Given the description of an element on the screen output the (x, y) to click on. 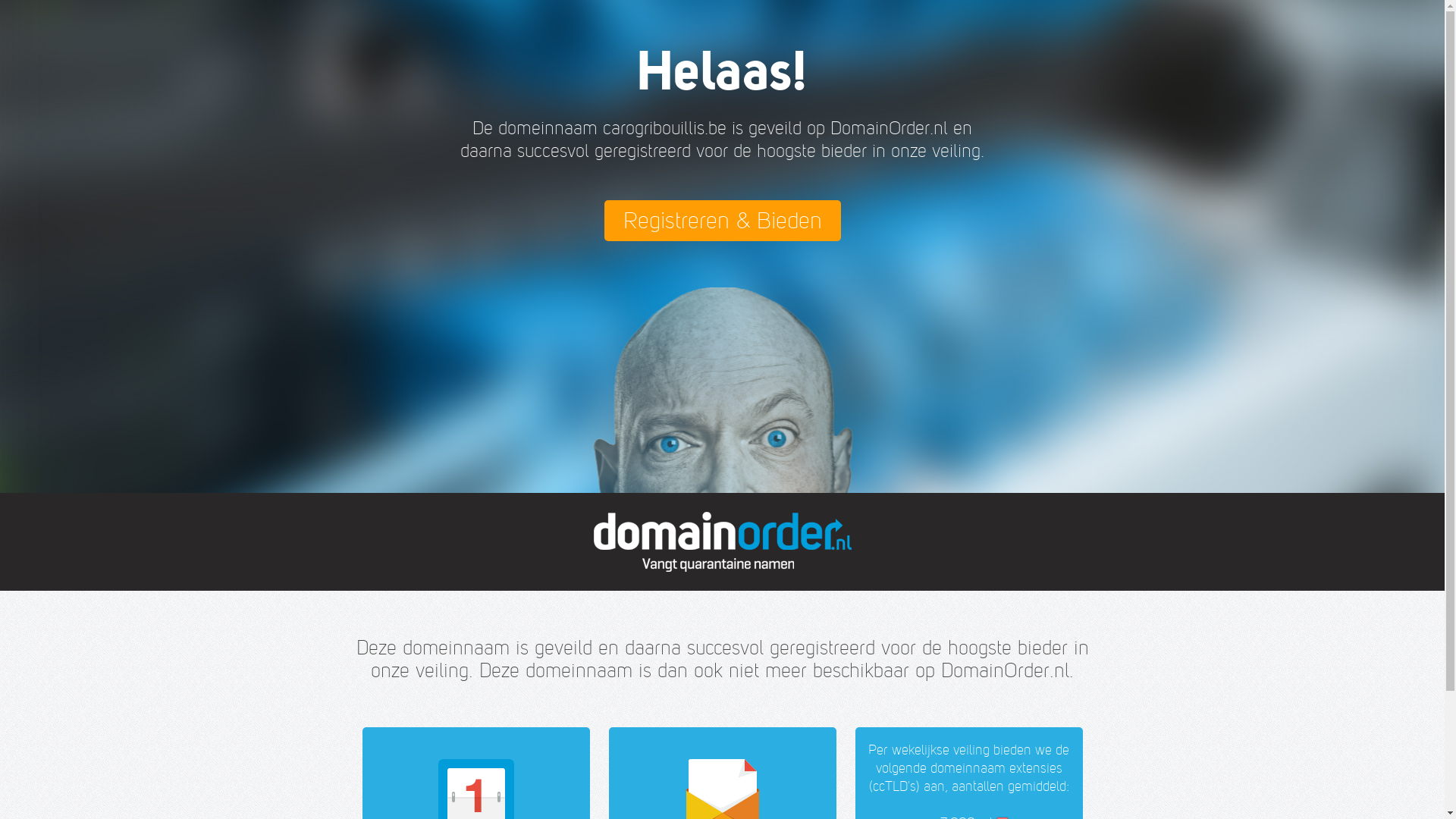
Registreren & Bieden Element type: text (721, 220)
